Given the description of an element on the screen output the (x, y) to click on. 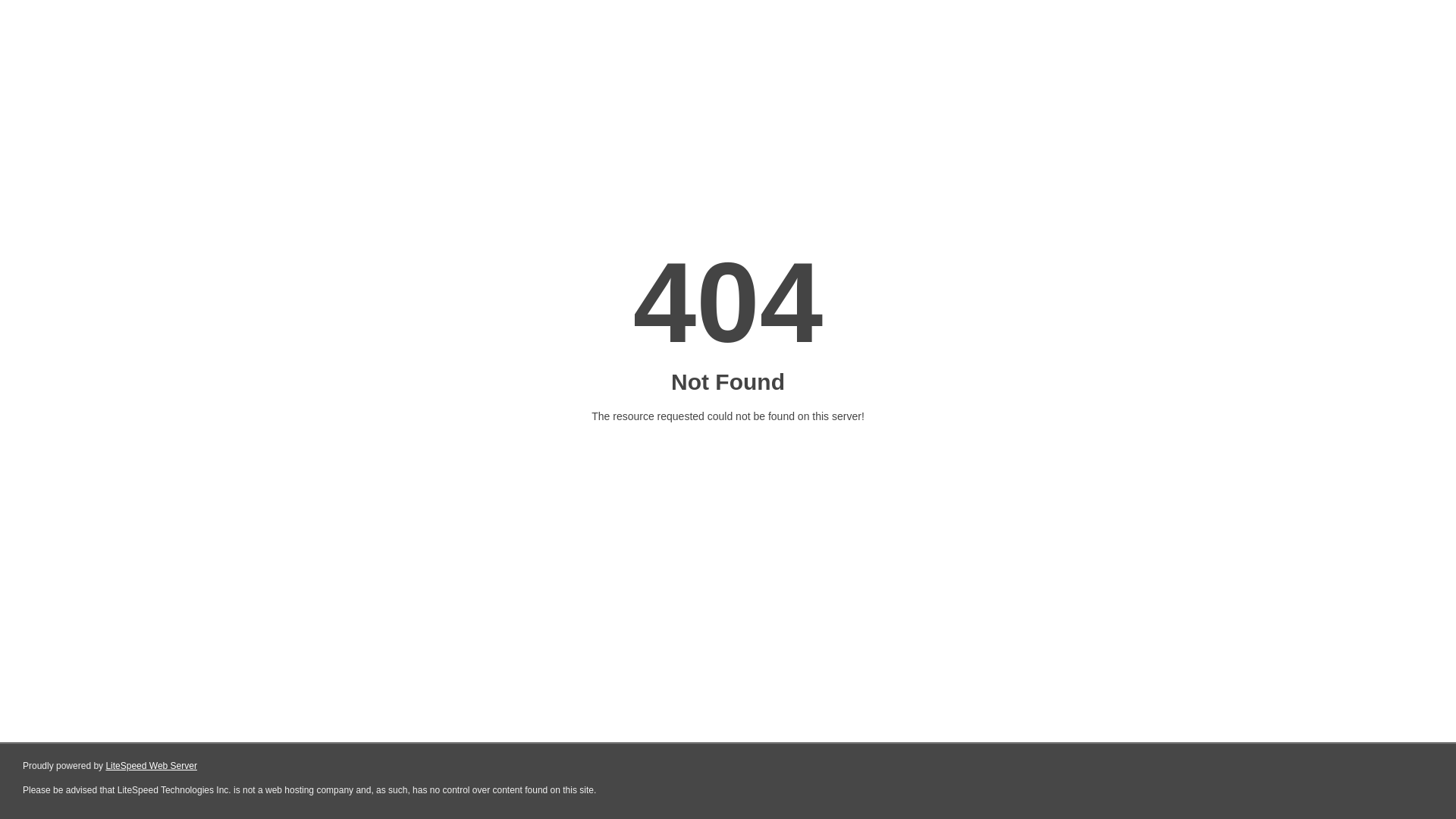
LiteSpeed Web Server Element type: text (151, 765)
